Given the description of an element on the screen output the (x, y) to click on. 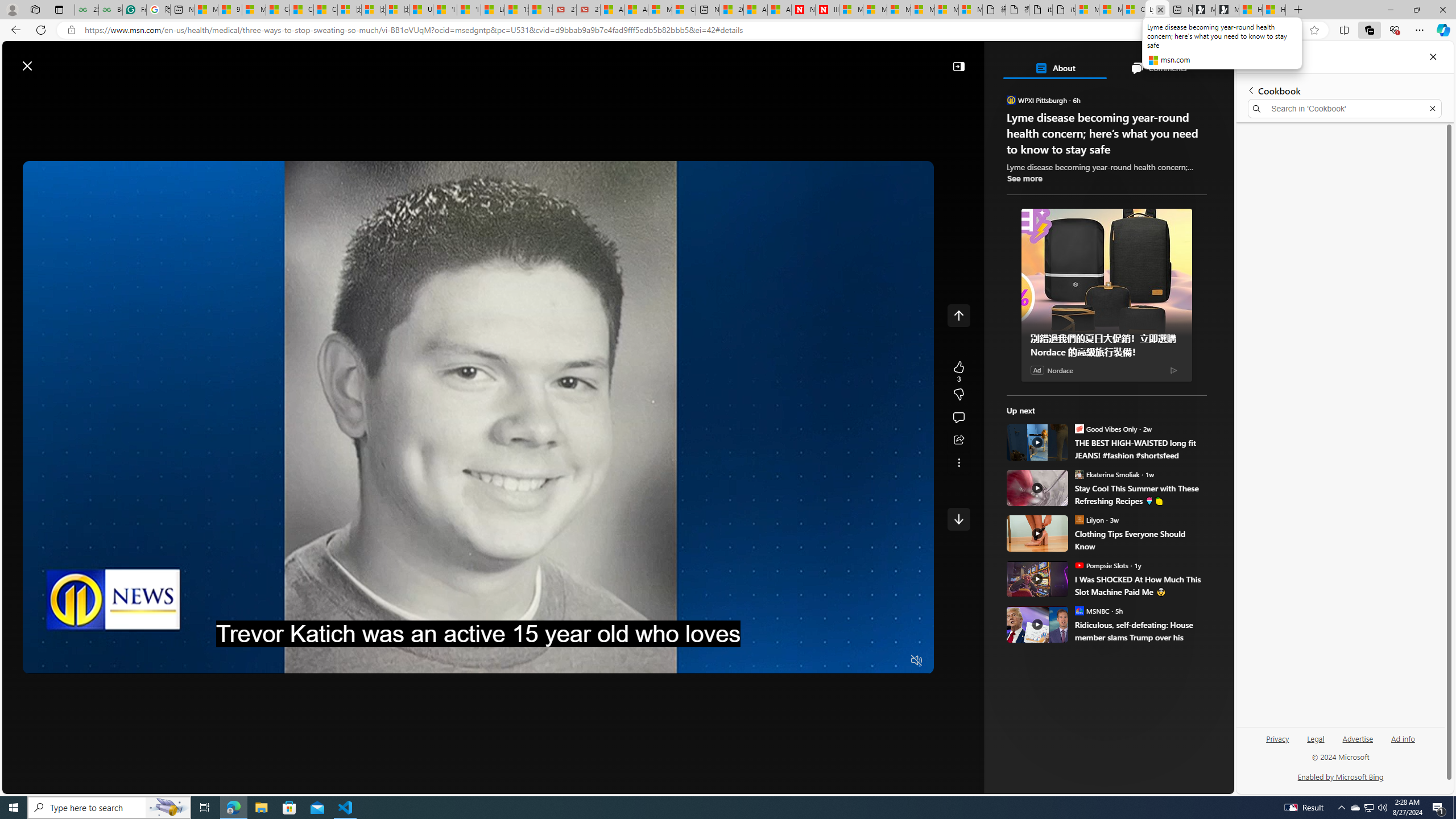
Clothing Tips Everyone Should Know (1140, 539)
THE BEST HIGH-WAISTED long fit JEANS! #fashion #shortsfeed (1140, 448)
Browser essentials (1394, 29)
20 Ways to Boost Your Protein Intake at Every Meal (731, 9)
Following (263, 92)
Captions (871, 660)
Watch (307, 92)
Progress Bar (478, 646)
Quality Settings (849, 660)
Refresh (40, 29)
